Given the description of an element on the screen output the (x, y) to click on. 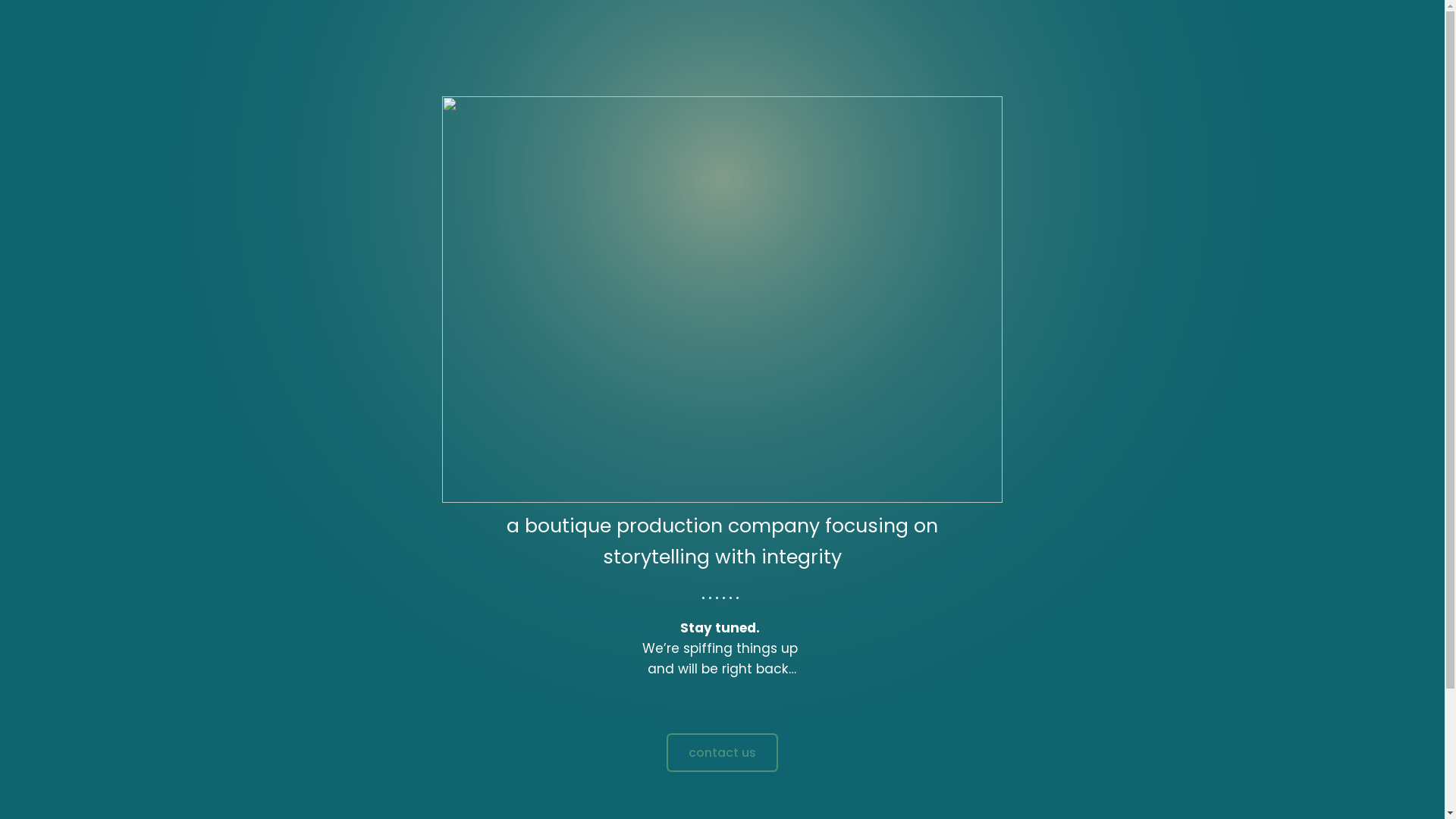
contact us Element type: text (722, 752)
